Given the description of an element on the screen output the (x, y) to click on. 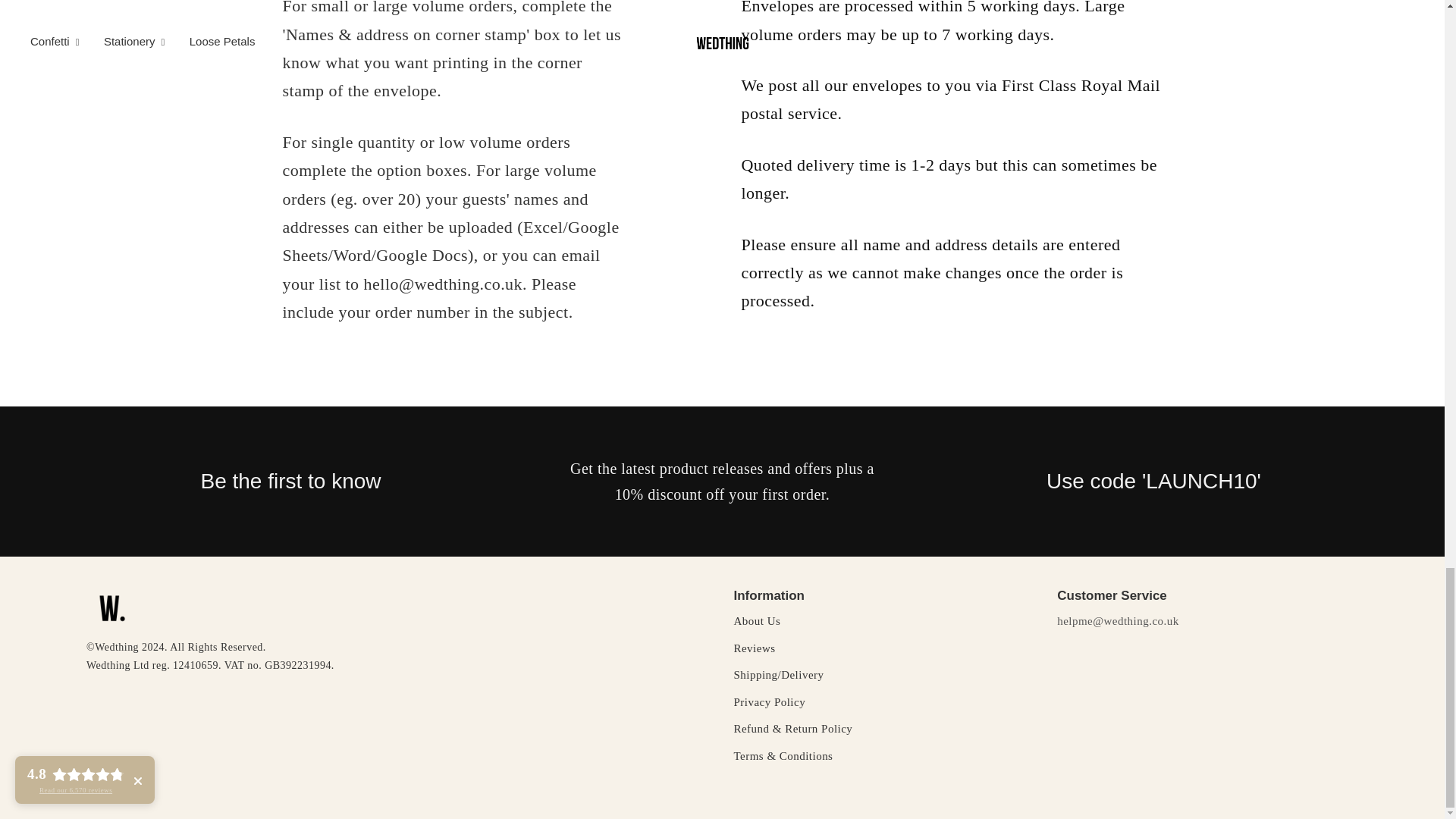
Use code 'LAUNCH10' (1153, 481)
Customer Service (1207, 596)
logo-w-smaller-1 (108, 609)
Information (884, 596)
Wedthing Ltd reg. 12410659. VAT no. GB392231994. (397, 665)
Be the first to know (290, 481)
